Given the description of an element on the screen output the (x, y) to click on. 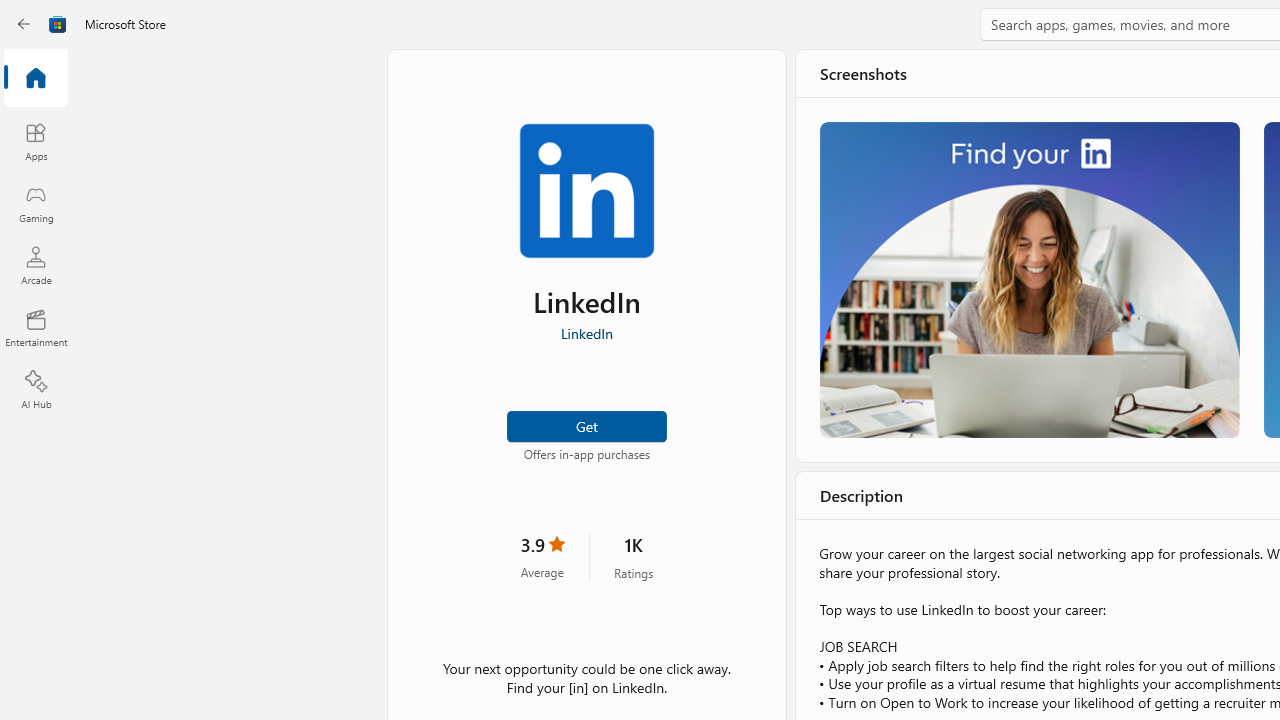
Arcade (35, 265)
LinkedIn (585, 333)
3.9 stars. Click to skip to ratings and reviews (542, 556)
Screenshot 1 (1029, 279)
Home (35, 79)
Gaming (35, 203)
AI Hub (35, 390)
Class: Image (58, 24)
Back (24, 24)
Apps (35, 141)
Get (586, 424)
Entertainment (35, 327)
